Given the description of an element on the screen output the (x, y) to click on. 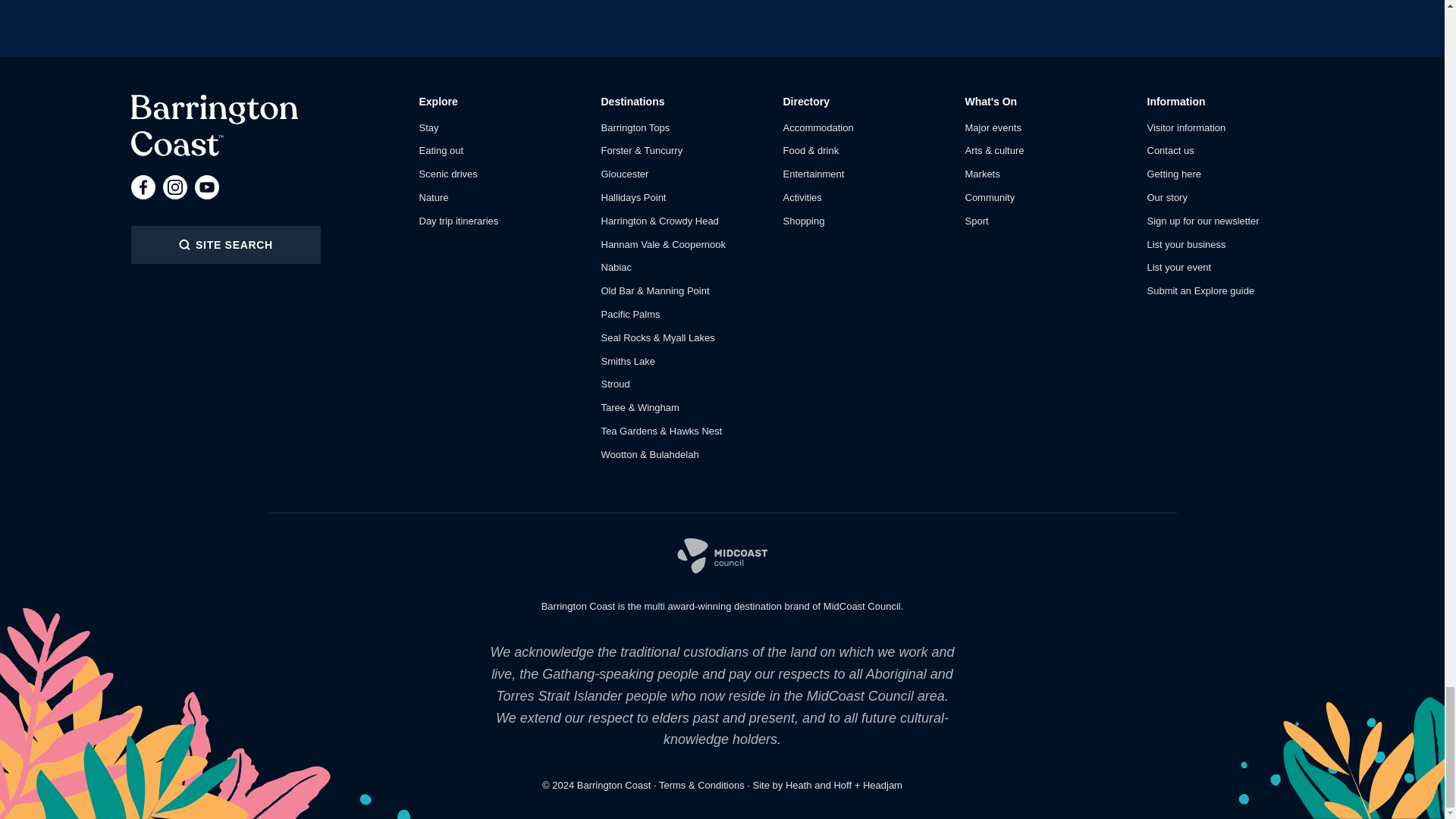
Barrington Coast (214, 125)
Headjam (882, 785)
Heath and Hoff (818, 785)
Facebook (142, 187)
Youtube (205, 187)
Instagram (173, 187)
MidCoast Council (722, 555)
